Given the description of an element on the screen output the (x, y) to click on. 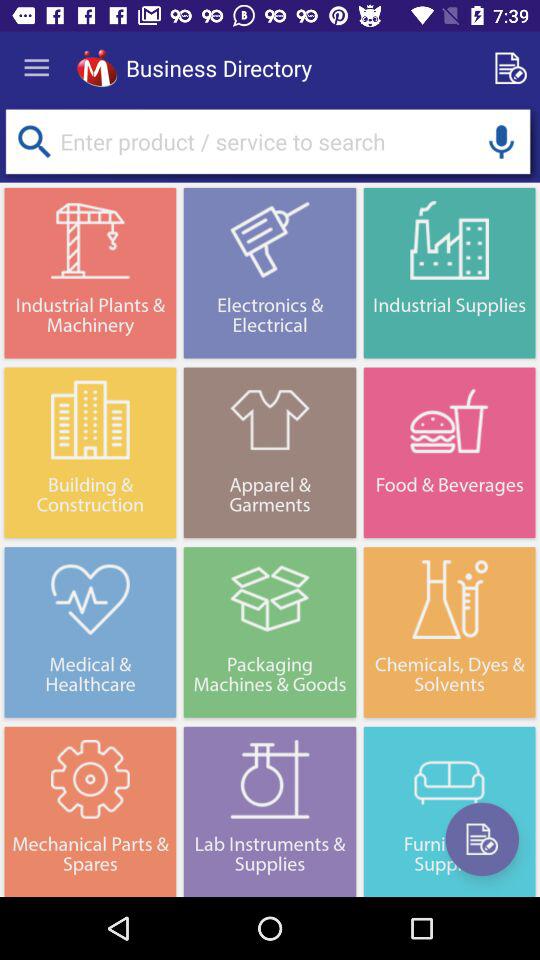
select the item to the left of business directory app (96, 67)
